Given the description of an element on the screen output the (x, y) to click on. 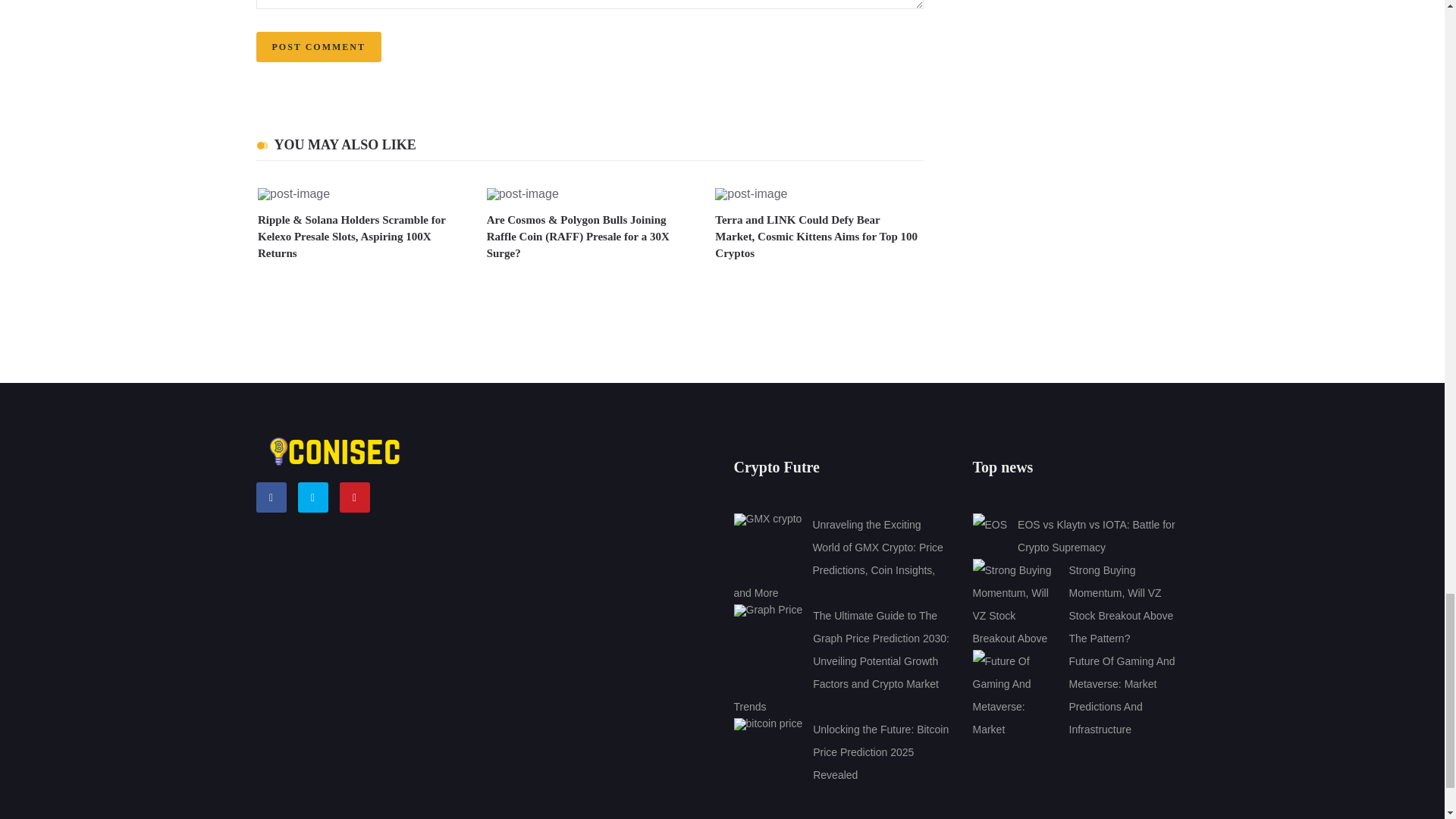
Post Comment (318, 46)
